Given the description of an element on the screen output the (x, y) to click on. 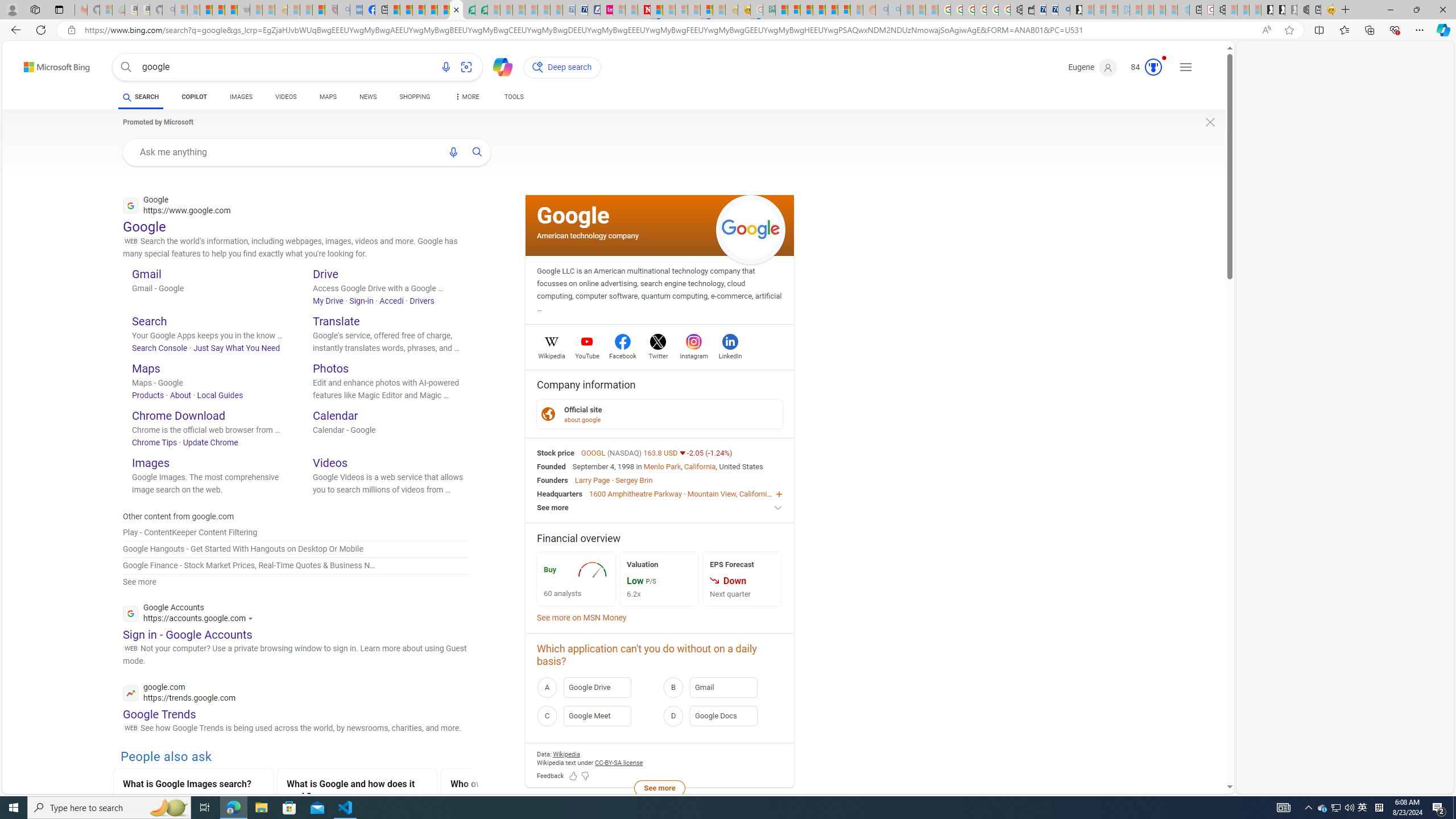
Pets - MSN (431, 9)
AutomationID: uaseabtn (478, 151)
American technology company (588, 234)
SHOPPING (414, 96)
Stock price (556, 452)
Just Say What You Need (236, 347)
Drive (325, 273)
Class: sp-ofsite (547, 414)
